Given the description of an element on the screen output the (x, y) to click on. 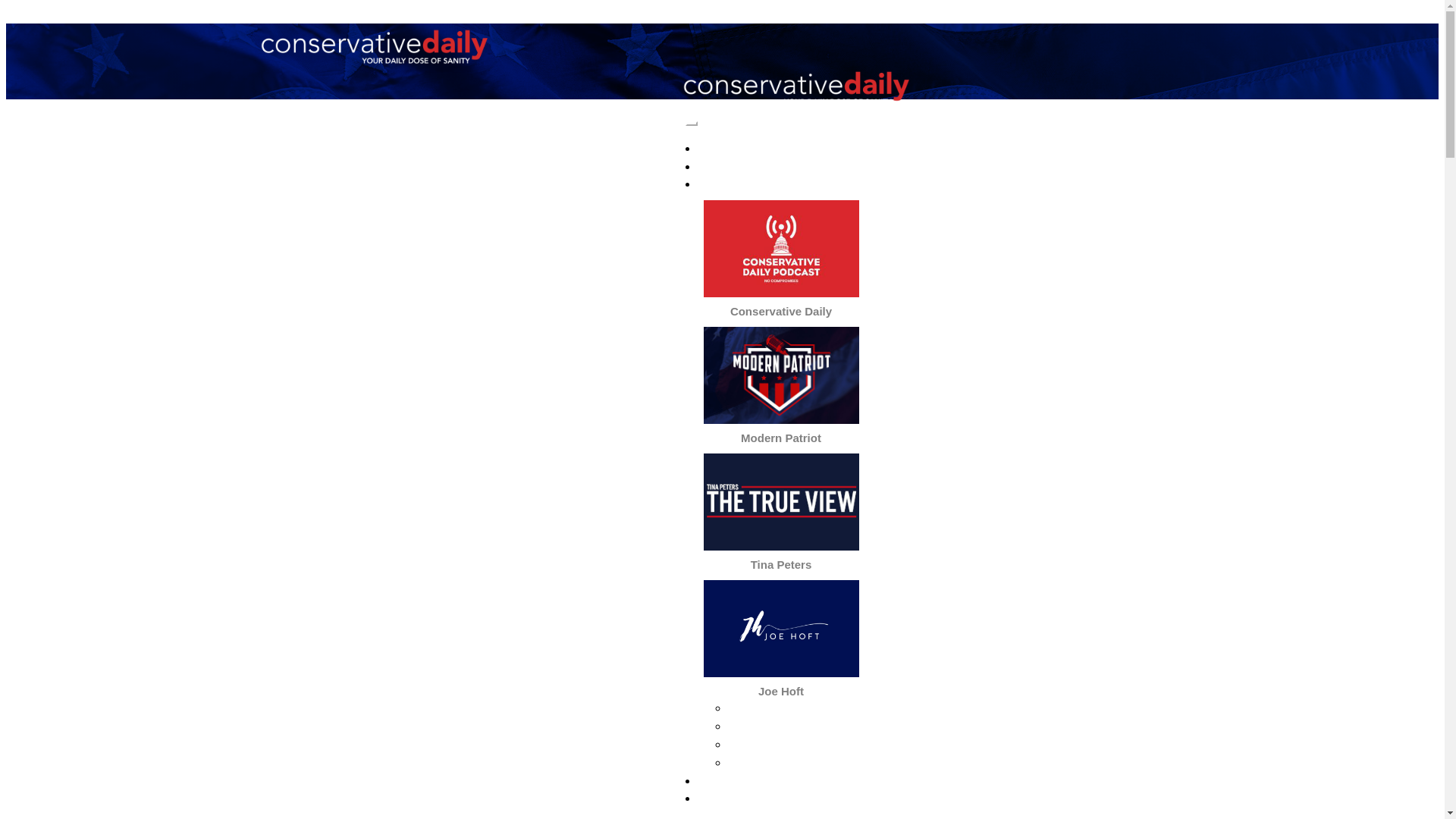
Contact (780, 781)
Tina Peters (795, 744)
Joe Hoft (796, 762)
Conservative Daily (796, 708)
Podcasts (780, 183)
Modern Patriot (796, 726)
Get Involved (781, 798)
Tina Peters (781, 563)
Joe Hoft (780, 690)
Modern Patriot (781, 437)
Conservative Daily (780, 310)
News (780, 166)
